Given the description of an element on the screen output the (x, y) to click on. 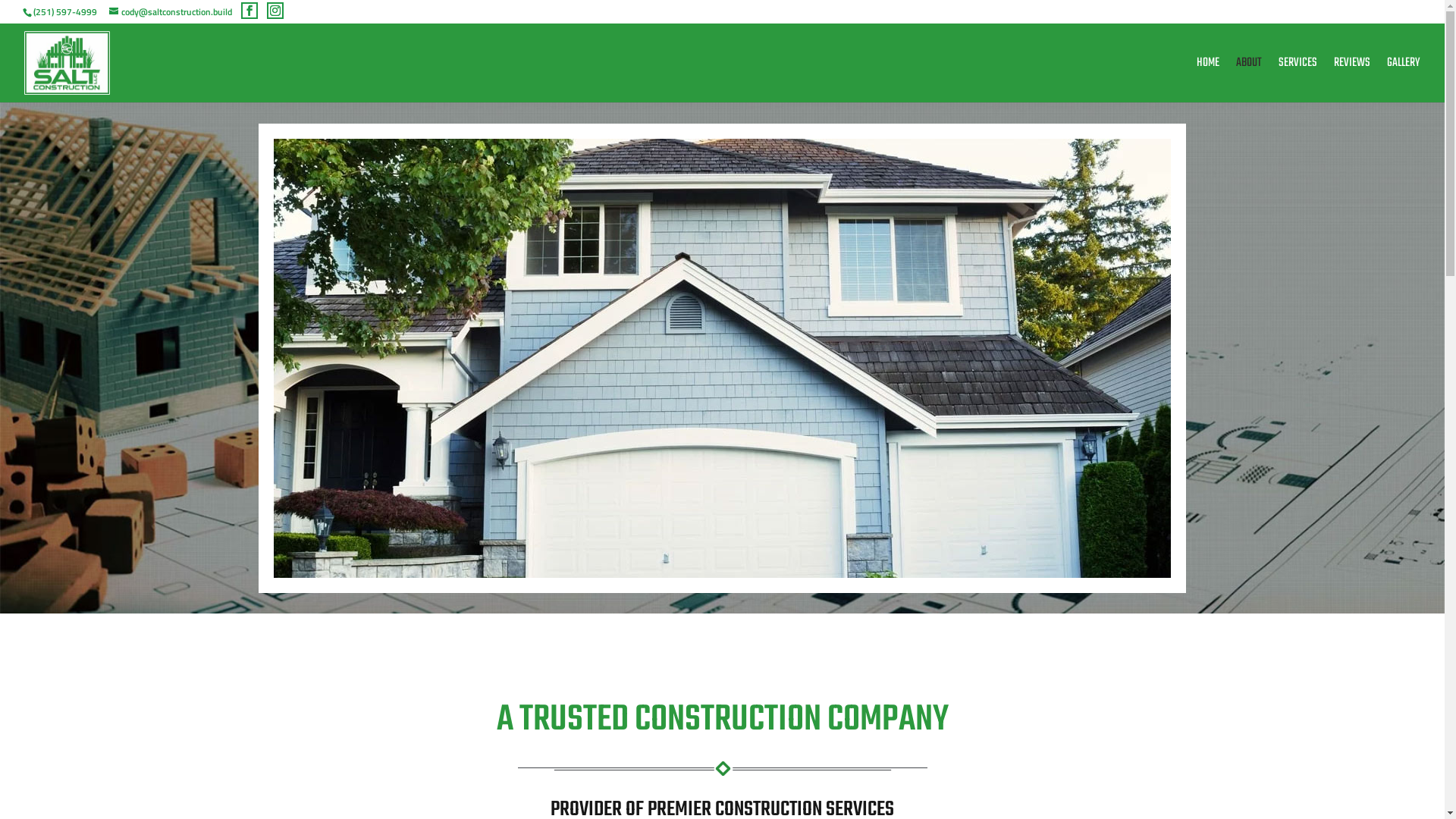
HOME Element type: text (1207, 79)
(251) 597-4999 Element type: text (65, 11)
GALLERY Element type: text (1403, 79)
cody@saltconstruction.build Element type: text (170, 11)
SERVICES Element type: text (1297, 79)
REVIEWS Element type: text (1351, 79)
ABOUT Element type: text (1248, 79)
